Given the description of an element on the screen output the (x, y) to click on. 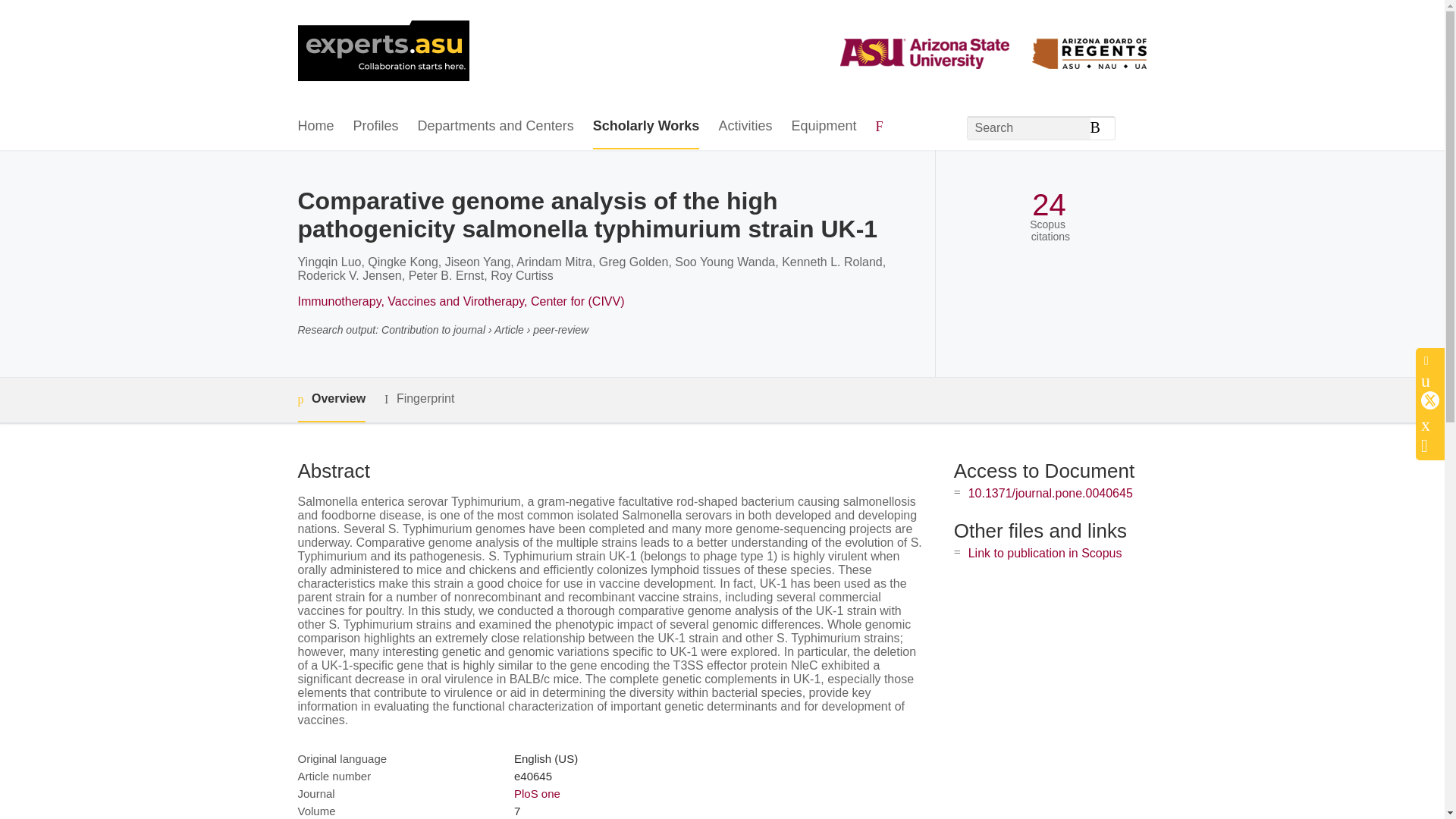
Activities (744, 126)
PloS one (536, 793)
Scholarly Works (646, 126)
Equipment (823, 126)
Link to publication in Scopus (1045, 553)
Arizona State University Home (382, 52)
Profiles (375, 126)
24 (1048, 204)
Departments and Centers (495, 126)
